Given the description of an element on the screen output the (x, y) to click on. 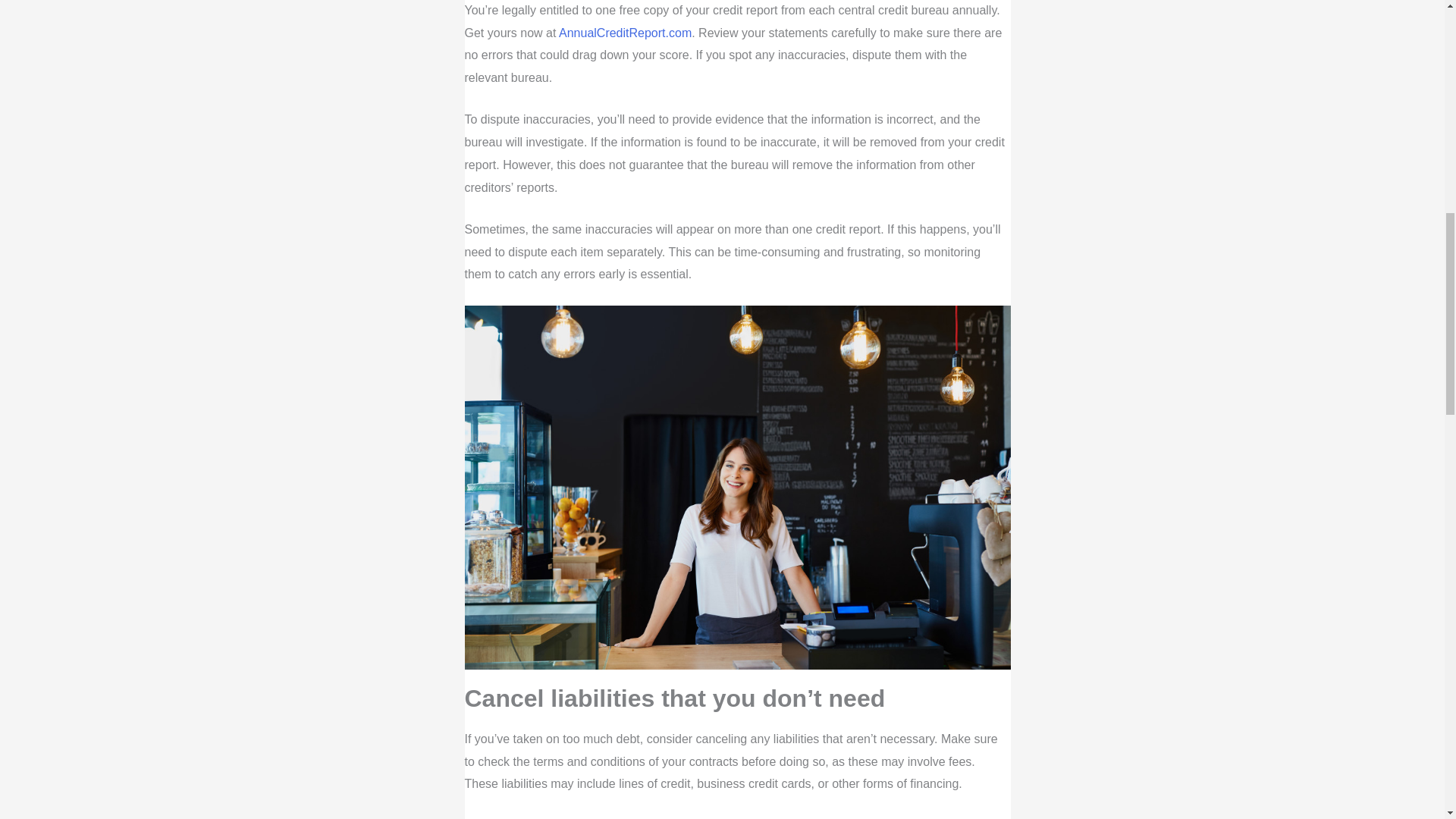
AnnualCreditReport.com (625, 32)
